Given the description of an element on the screen output the (x, y) to click on. 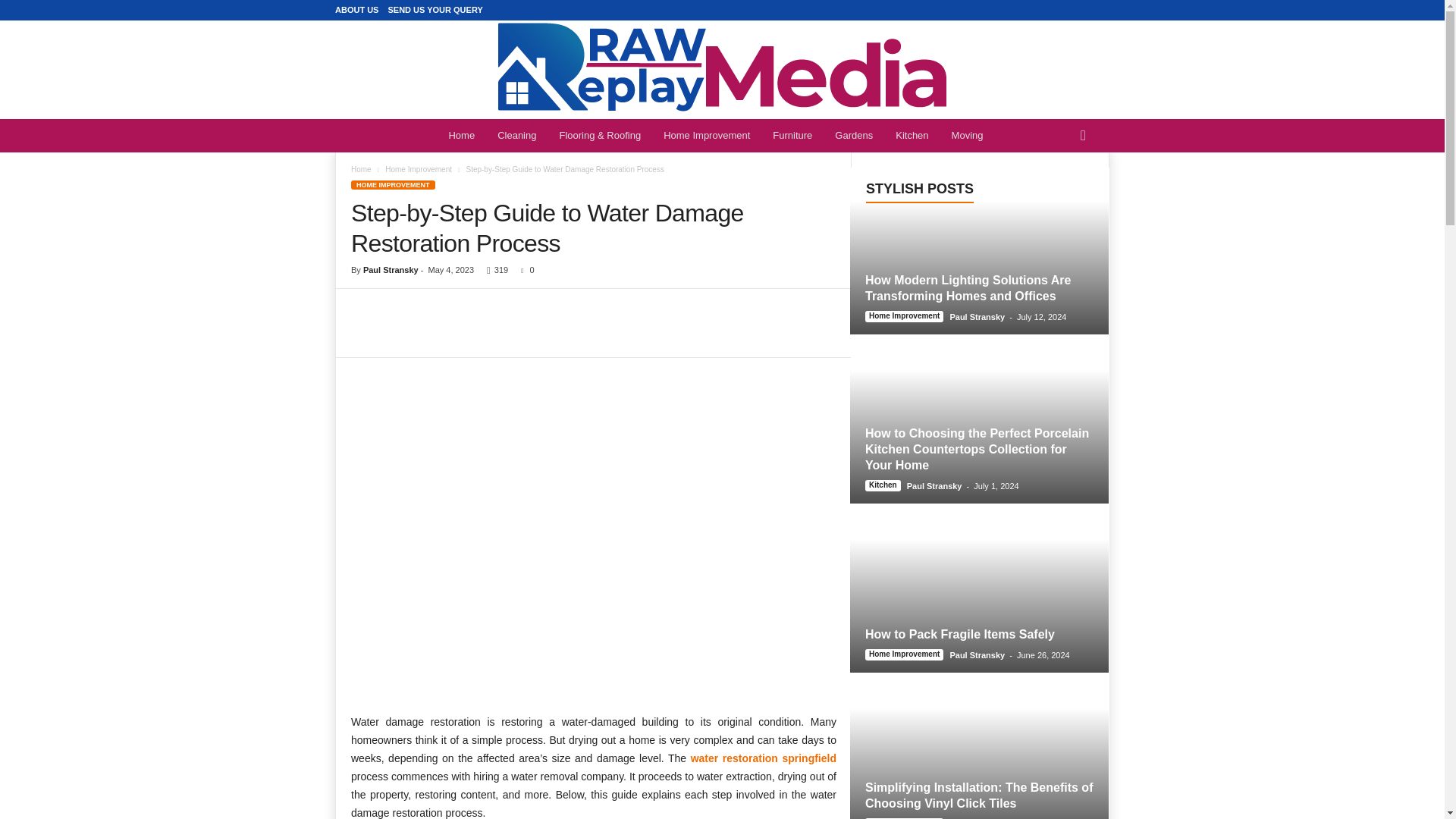
Cleaning (516, 135)
SEND US YOUR QUERY (434, 9)
Furniture (792, 135)
0 (524, 269)
Home Improvement (418, 169)
water restoration springfield (762, 758)
Home Improvement (706, 135)
Moving (967, 135)
Kitchen (911, 135)
View all posts in Home Improvement (418, 169)
Paul Stransky (390, 269)
Home (461, 135)
Home (360, 169)
HOME IMPROVEMENT (392, 184)
ABOUT US (356, 9)
